Given the description of an element on the screen output the (x, y) to click on. 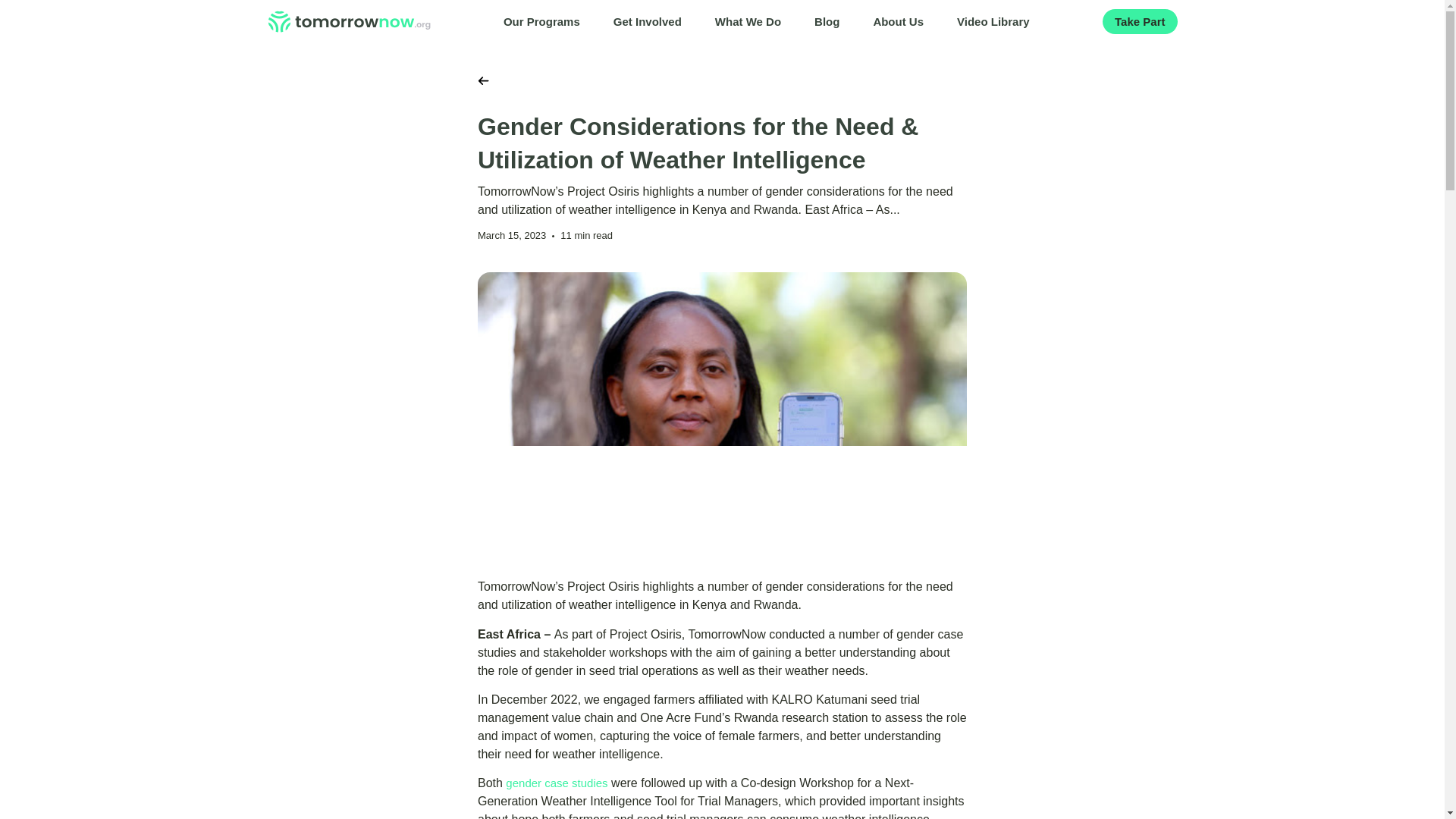
Get Involved (647, 21)
Our Programs (541, 21)
About Us (898, 21)
Take Part (1139, 21)
gender case studies (556, 782)
Blog (826, 21)
What We Do (747, 21)
Video Library (993, 21)
